Given the description of an element on the screen output the (x, y) to click on. 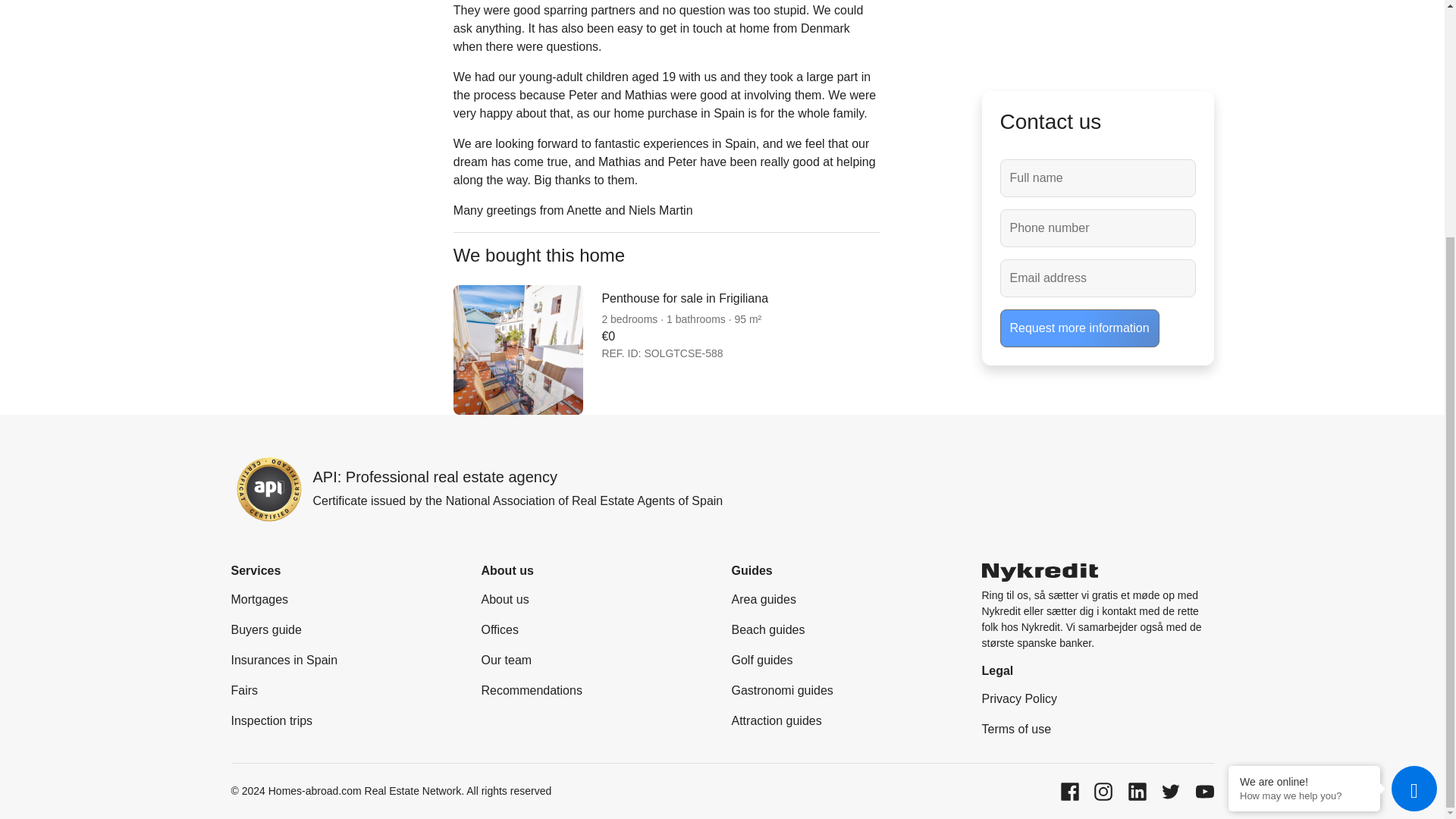
LinkedIn (1139, 789)
Instagram (1104, 789)
We are online! (1304, 458)
YouTube (1203, 789)
Facebook (1071, 789)
Twitter (1171, 789)
Request more information (1078, 14)
How may we help you? (1304, 471)
